Given the description of an element on the screen output the (x, y) to click on. 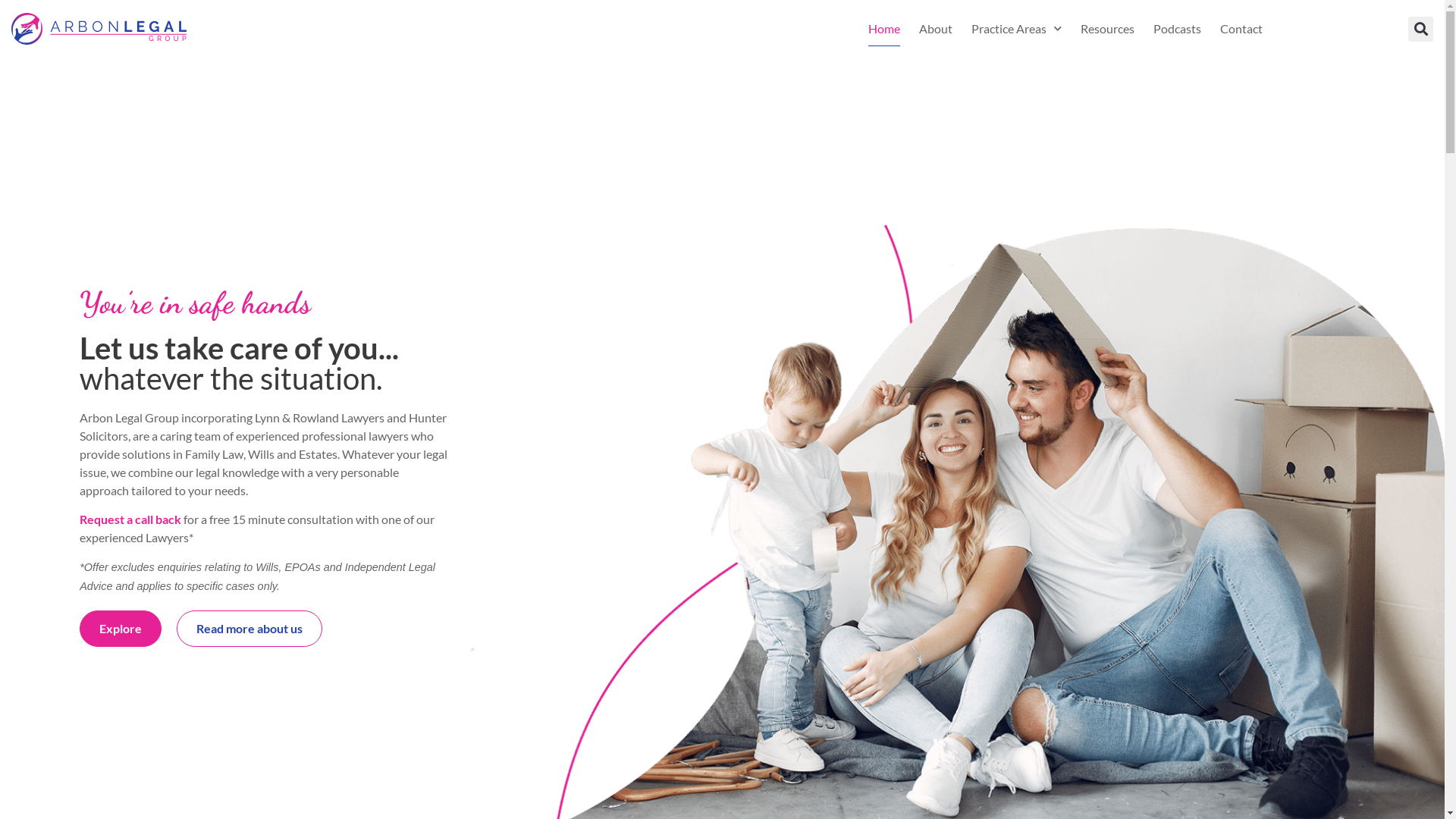
About Element type: text (935, 28)
Explore Element type: text (120, 628)
Contact Element type: text (1241, 28)
Read more about us Element type: text (249, 628)
Request a call back Element type: text (130, 518)
Resources Element type: text (1107, 28)
Home Element type: text (884, 28)
Practice Areas Element type: text (1016, 28)
Podcasts Element type: text (1177, 28)
